Given the description of an element on the screen output the (x, y) to click on. 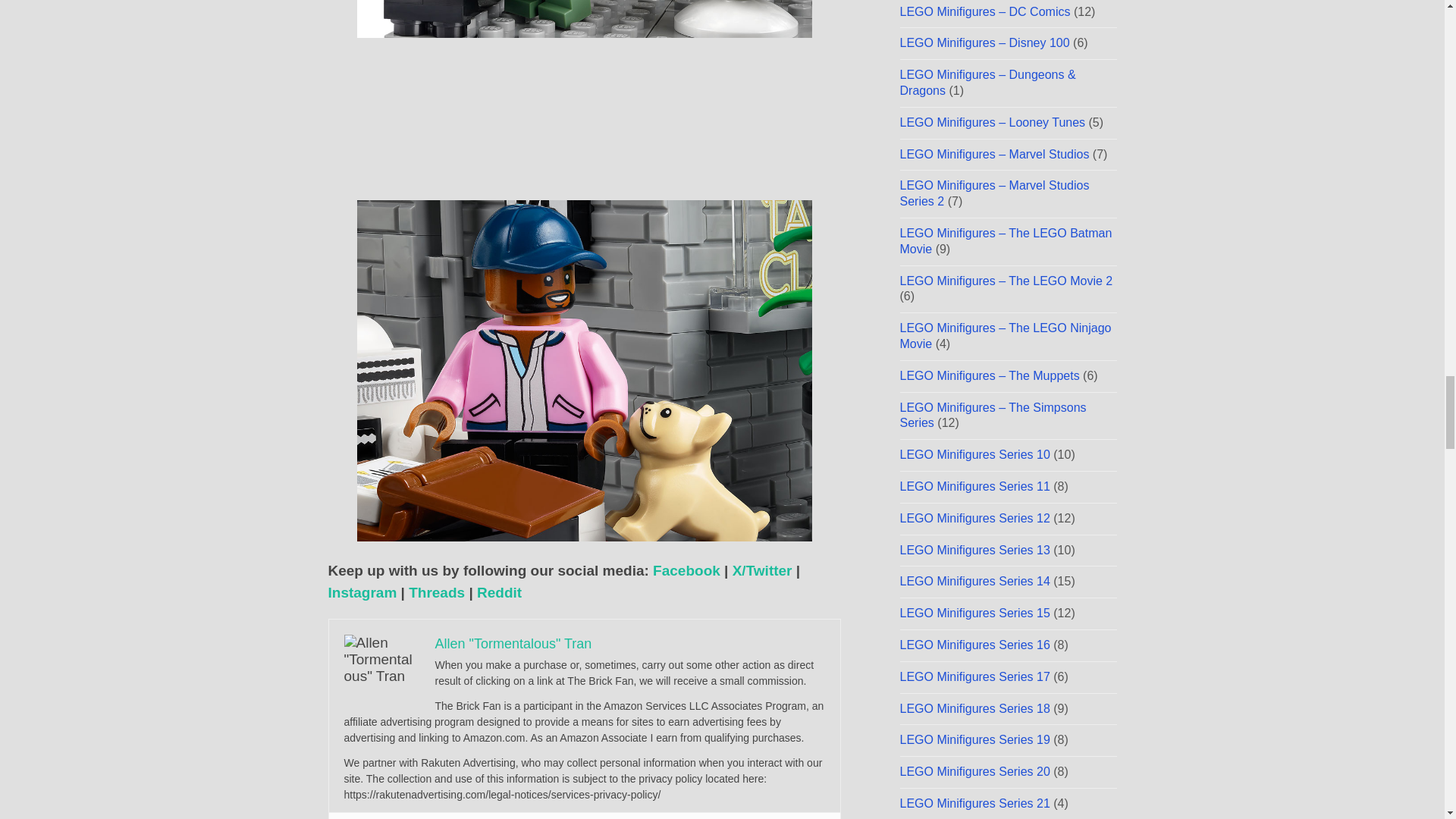
Facebook (686, 570)
Instagram (361, 592)
Allen "Tormentalous" Tran (513, 643)
Threads (436, 592)
Reddit (499, 592)
